Given the description of an element on the screen output the (x, y) to click on. 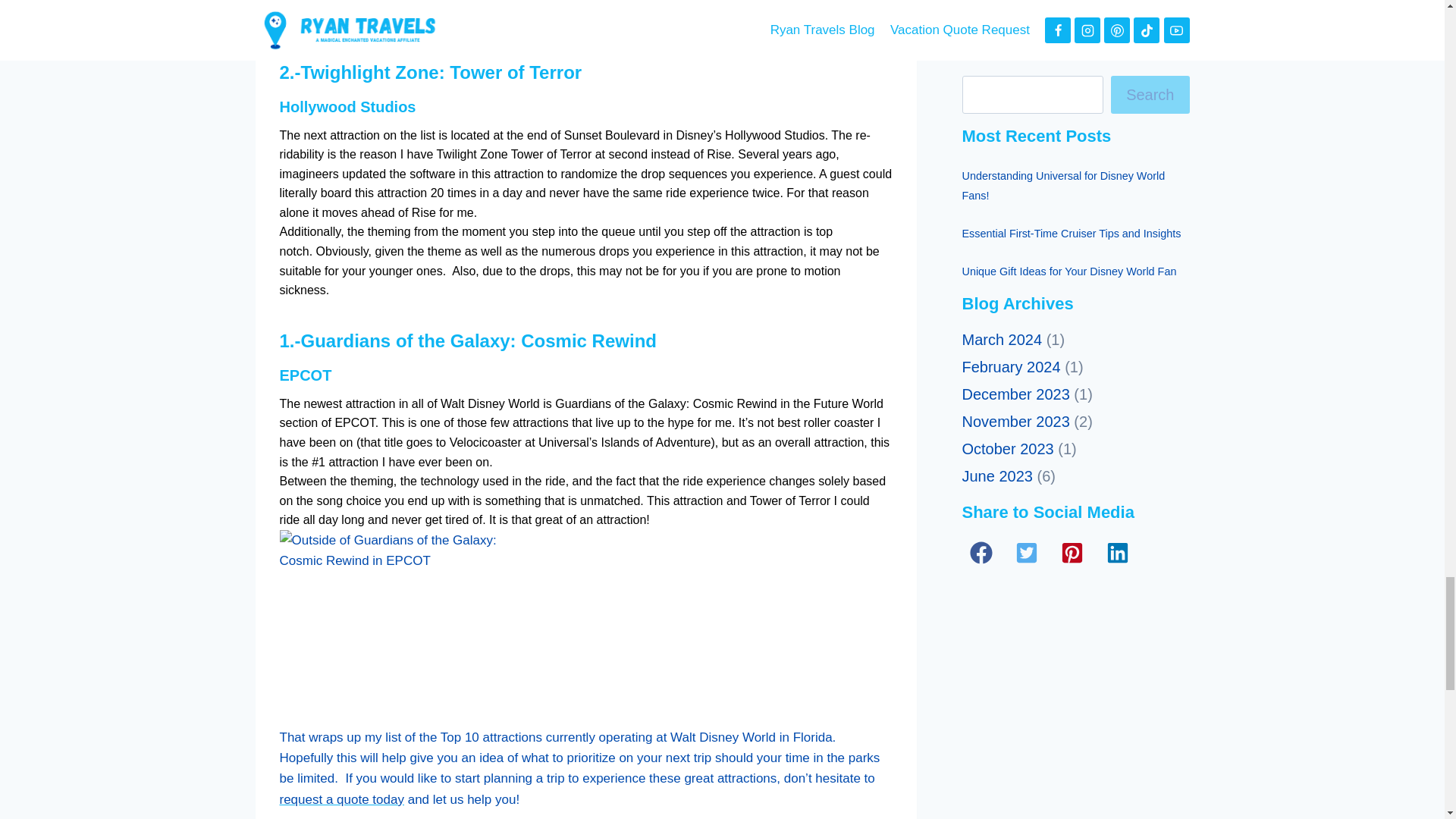
request a quote today (341, 799)
